Given the description of an element on the screen output the (x, y) to click on. 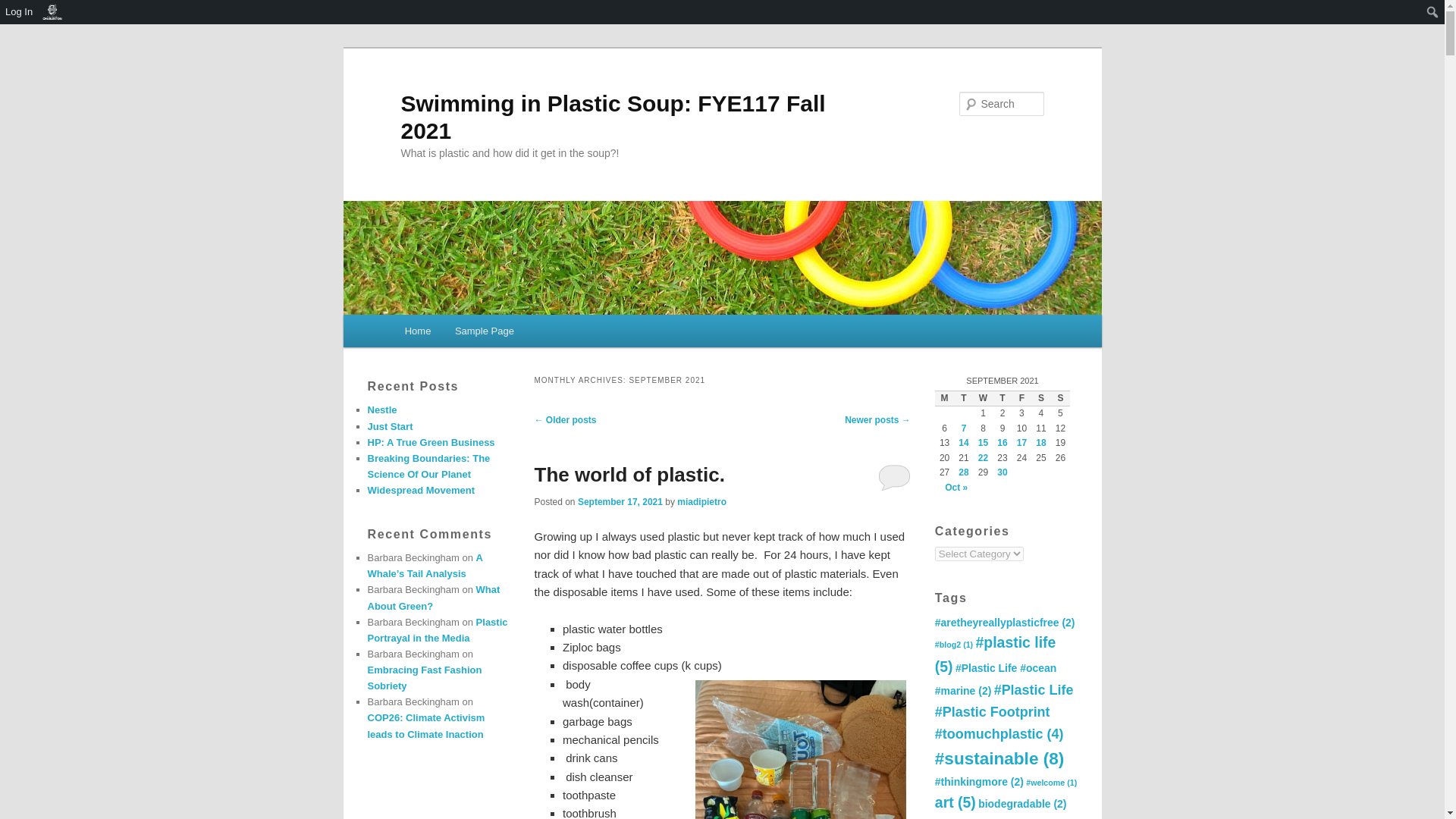
View all posts by miadipietro (701, 501)
Swimming in Plastic Soup: FYE117 Fall 2021 (612, 116)
miadipietro (701, 501)
The world of plastic. (628, 474)
Search (24, 8)
Skip to secondary content (479, 333)
11:58 pm (620, 501)
Permalink to The world of plastic. (628, 474)
Sample Page (483, 330)
Home (417, 330)
